Given the description of an element on the screen output the (x, y) to click on. 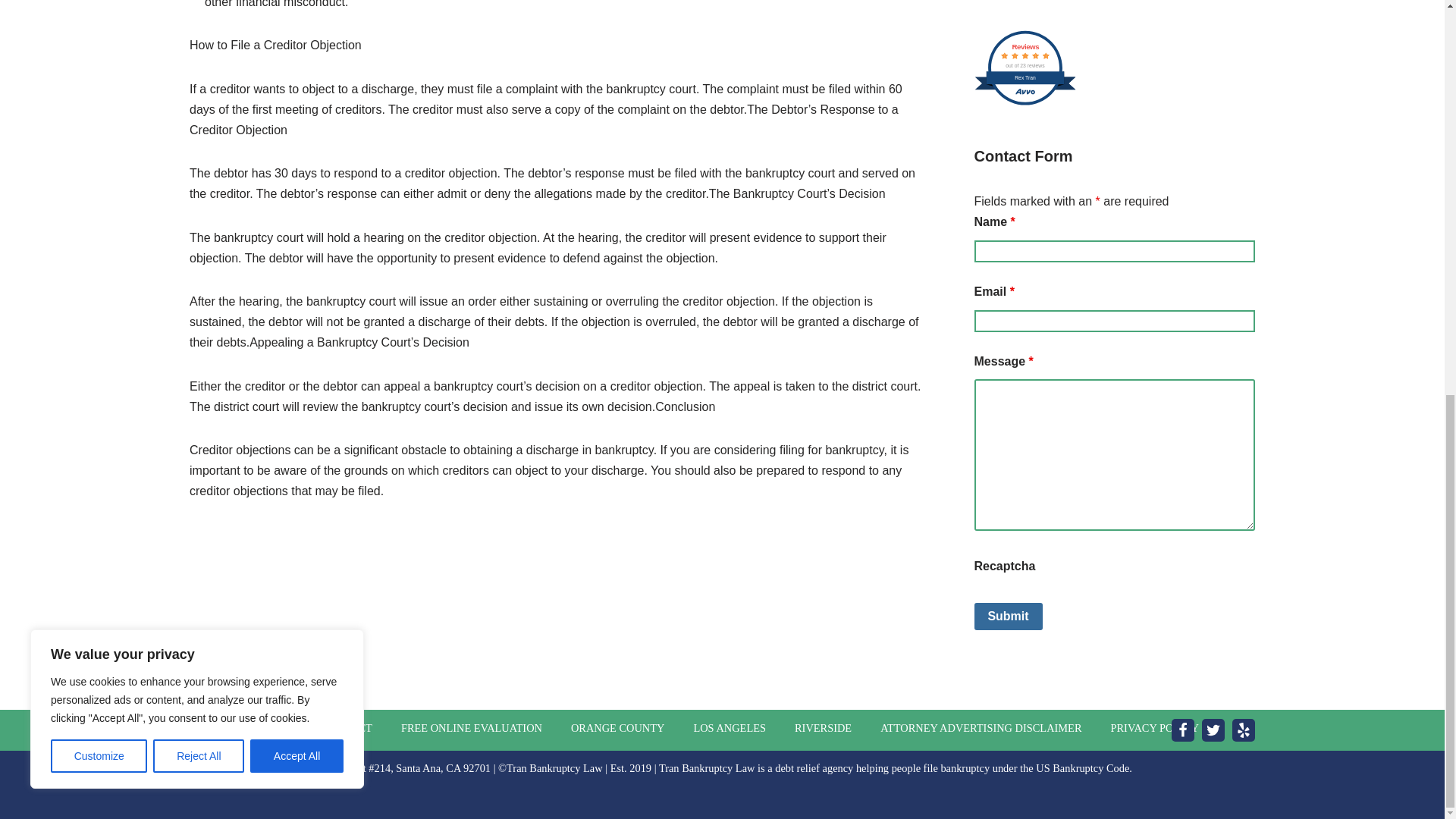
Facebook (1182, 730)
Yelp (1243, 730)
Twitter (1213, 730)
Submit (1008, 615)
Reject All (198, 6)
Customize (98, 6)
Accept All (296, 6)
